Given the description of an element on the screen output the (x, y) to click on. 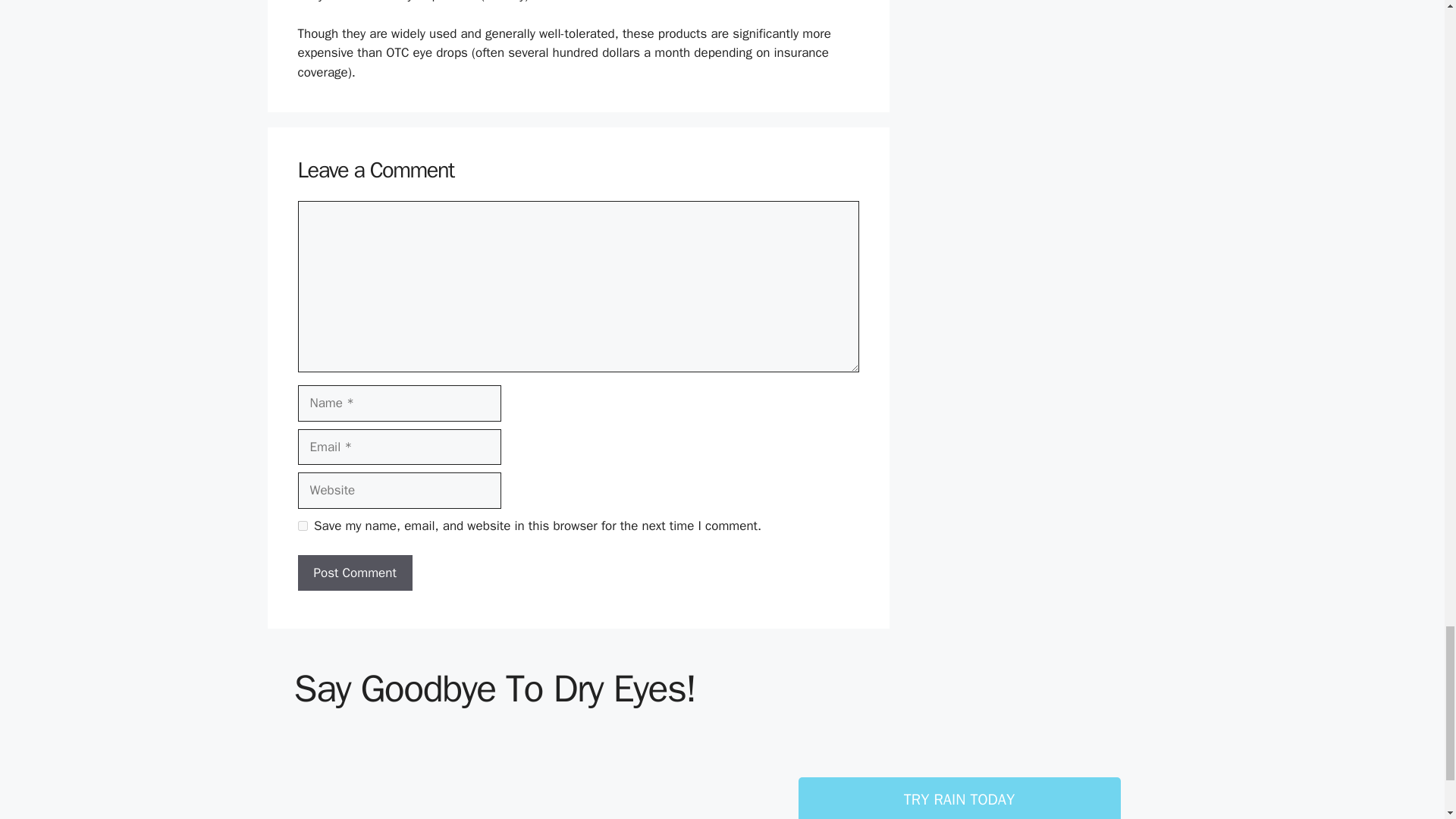
yes (302, 525)
TRY RAIN TODAY (958, 798)
Post Comment (354, 573)
Post Comment (354, 573)
